Given the description of an element on the screen output the (x, y) to click on. 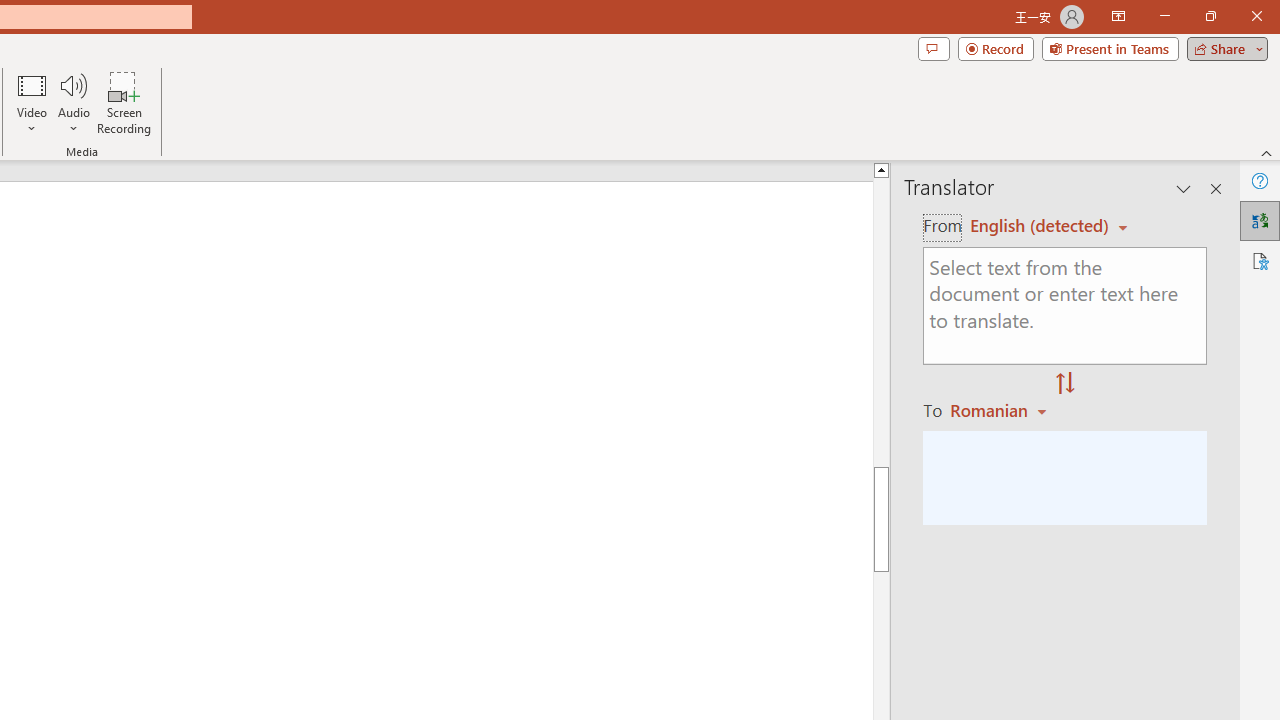
Swap "from" and "to" languages. (1065, 383)
Screen Recording... (123, 102)
Romanian (1001, 409)
